Given the description of an element on the screen output the (x, y) to click on. 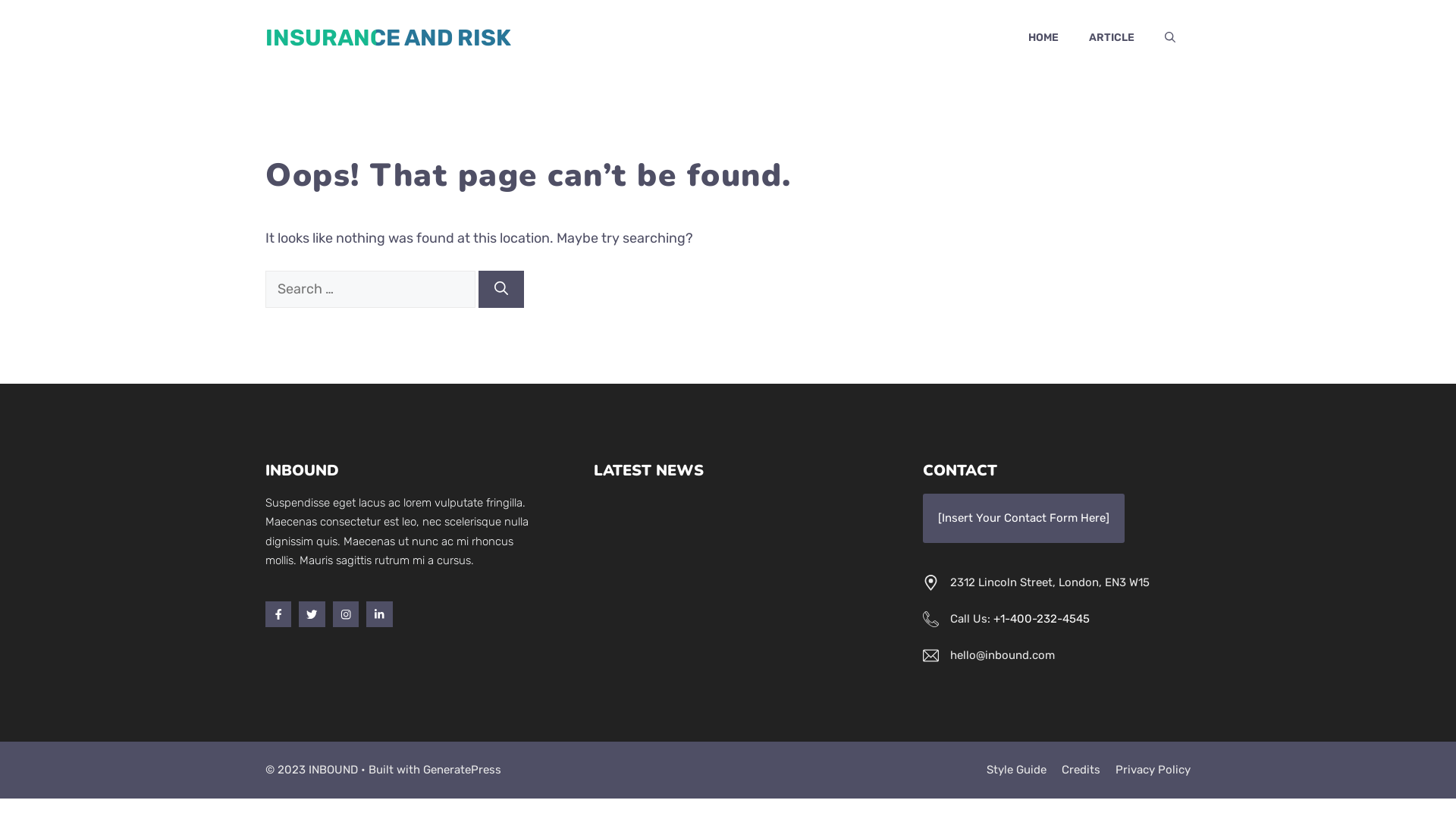
Style Guide Element type: text (1016, 769)
ARTICLE Element type: text (1111, 37)
Search for: Element type: hover (370, 288)
Privacy Policy Element type: text (1152, 769)
HOME Element type: text (1043, 37)
hello@inbound.com Element type: text (1002, 655)
GeneratePress Element type: text (462, 769)
INSURANCE AND RISK Element type: text (388, 37)
Credits Element type: text (1080, 769)
+1-400-232-4545 Element type: text (1041, 618)
